Given the description of an element on the screen output the (x, y) to click on. 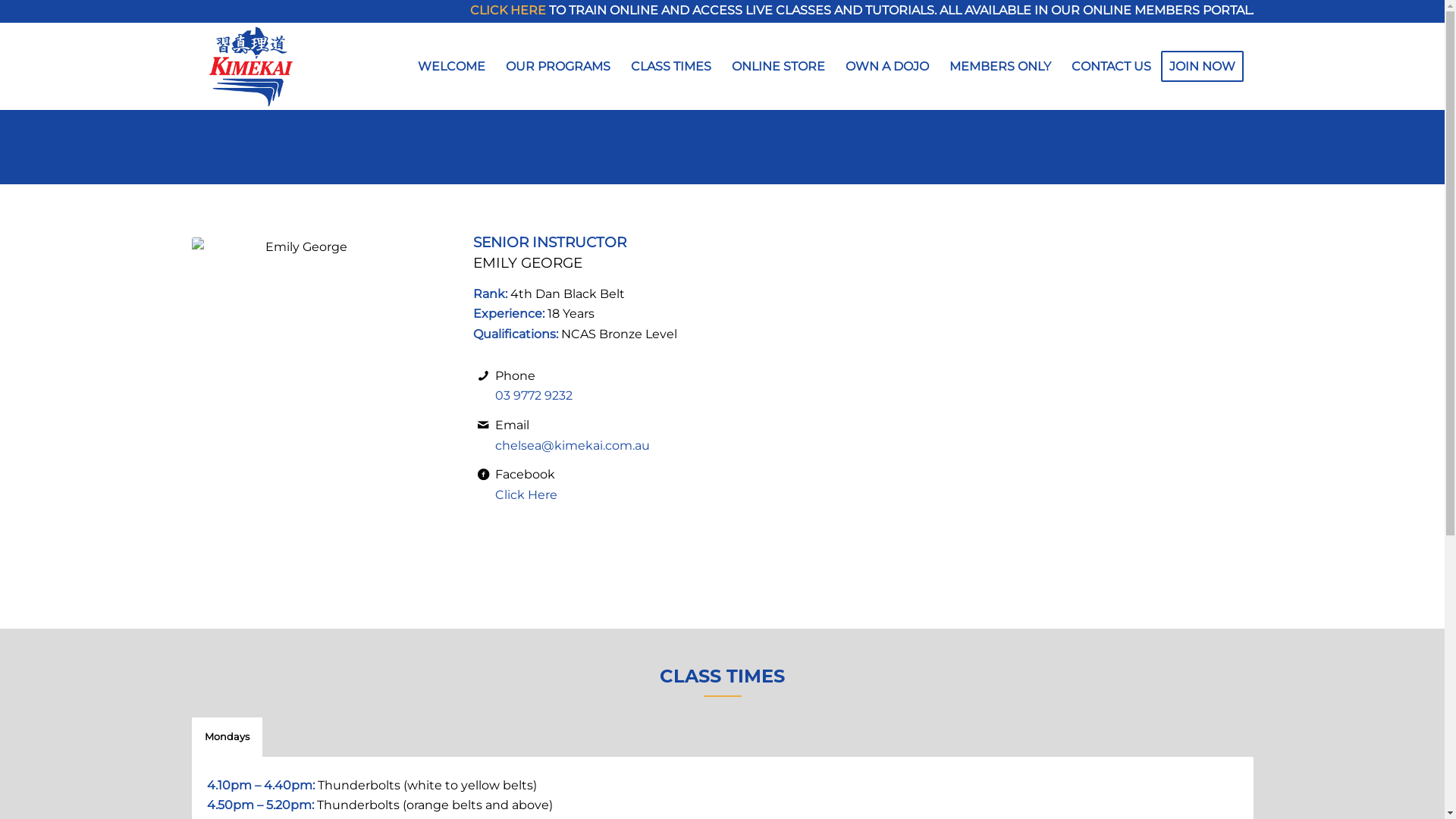
Click Here Element type: text (526, 494)
MEMBERS ONLY Element type: text (999, 65)
03 9772 9232 Element type: text (533, 395)
CLASS TIMES Element type: text (670, 65)
kimekai Logo 500_372 Element type: hover (249, 65)
OUR PROGRAMS Element type: text (556, 65)
OWN A DOJO Element type: text (886, 65)
chelsea@kimekai.com.au Element type: text (572, 445)
ONLINE STORE Element type: text (777, 65)
CONTACT US Element type: text (1110, 65)
JOIN NOW Element type: text (1206, 65)
CLICK HERE Element type: text (508, 10)
WELCOME Element type: text (451, 65)
